Given the description of an element on the screen output the (x, y) to click on. 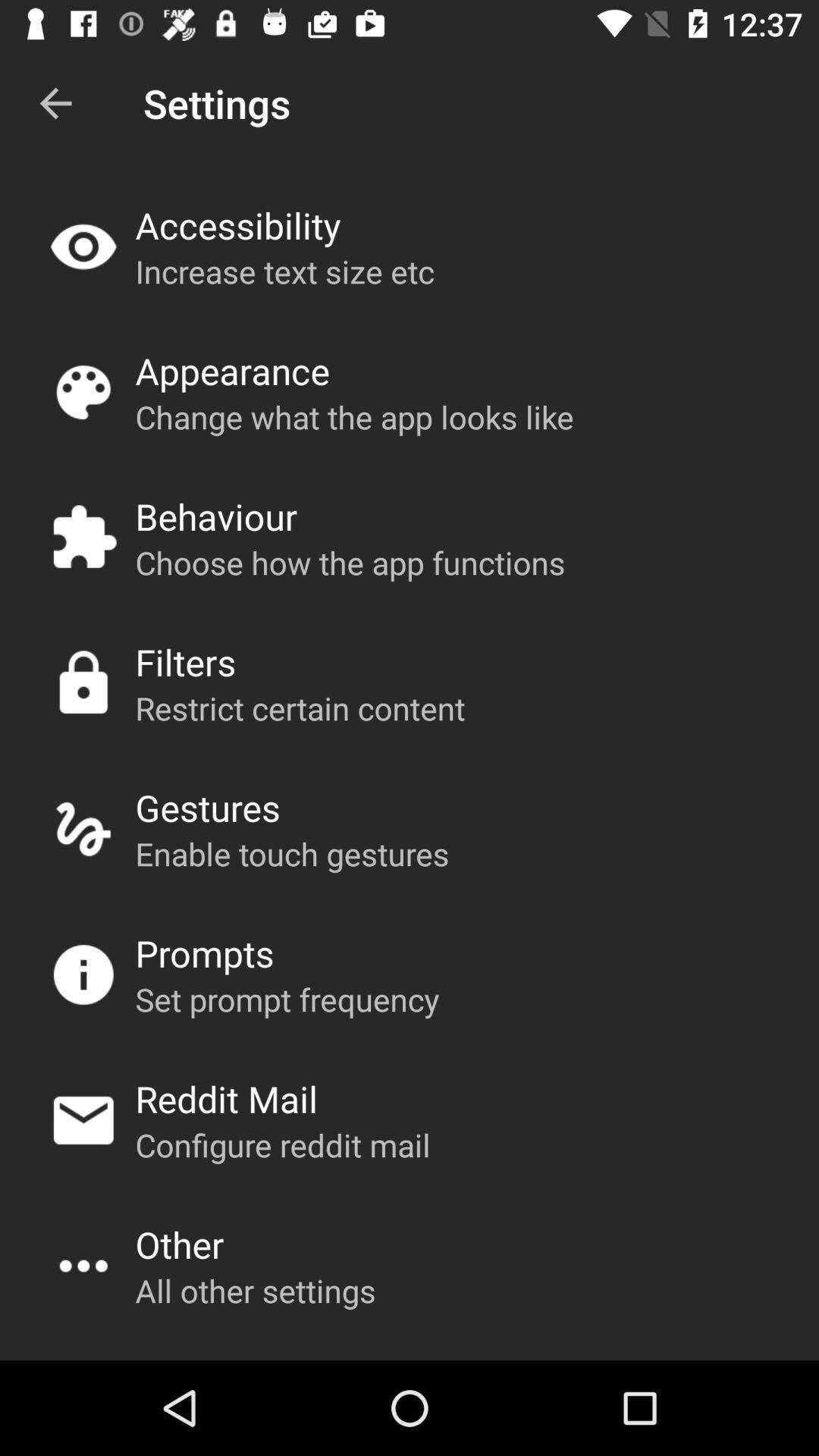
flip to choose how the icon (350, 562)
